Given the description of an element on the screen output the (x, y) to click on. 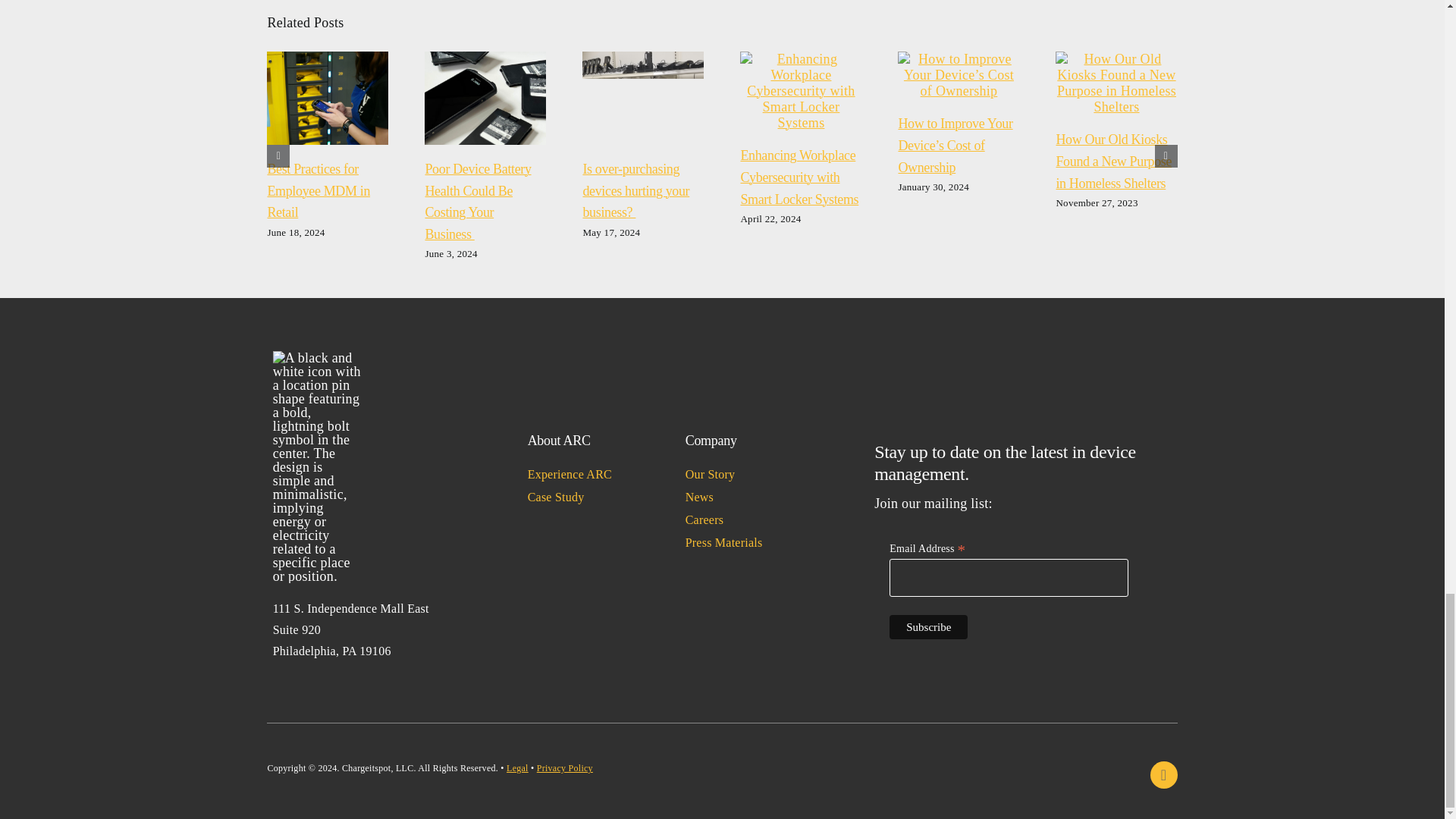
Is over-purchasing devices hurting your business?  (635, 190)
Subscribe (928, 627)
Enhancing Workplace Cybersecurity with Smart Locker Systems (799, 177)
Enhancing Workplace Cybersecurity with Smart Locker Systems (799, 177)
Poor Device Battery Health Could Be Costing Your Business  (478, 201)
How Our Old Kiosks Found a New Purpose in Homeless Shelters (1113, 160)
Experience ARC (588, 474)
Best Practices for Employee MDM in Retail (317, 190)
